Given the description of an element on the screen output the (x, y) to click on. 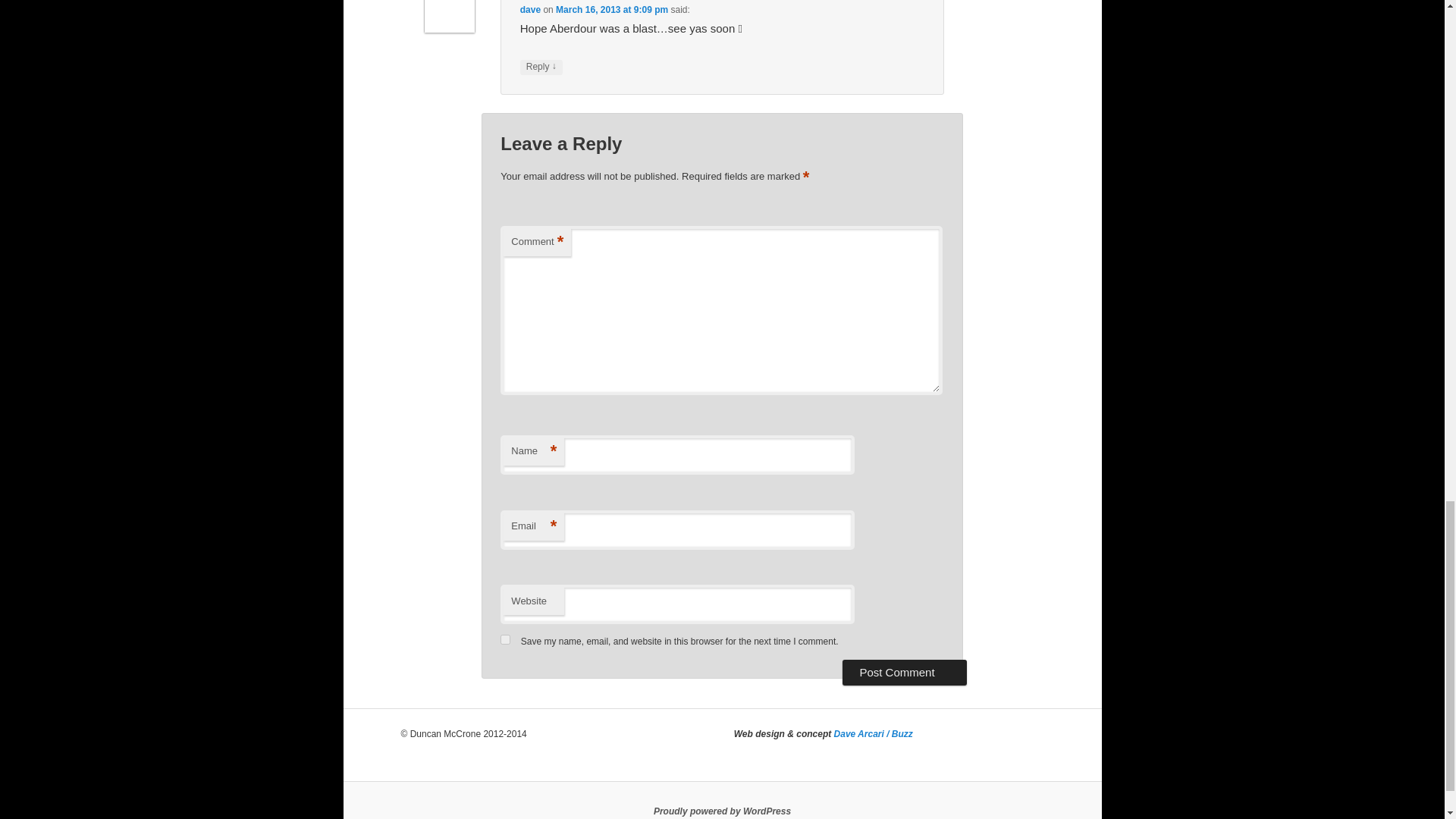
dave (529, 9)
Semantic Personal Publishing Platform (721, 810)
Post Comment (904, 672)
Post Comment (904, 672)
March 16, 2013 at 9:09 pm (612, 9)
yes (505, 639)
Proudly powered by WordPress (721, 810)
